Given the description of an element on the screen output the (x, y) to click on. 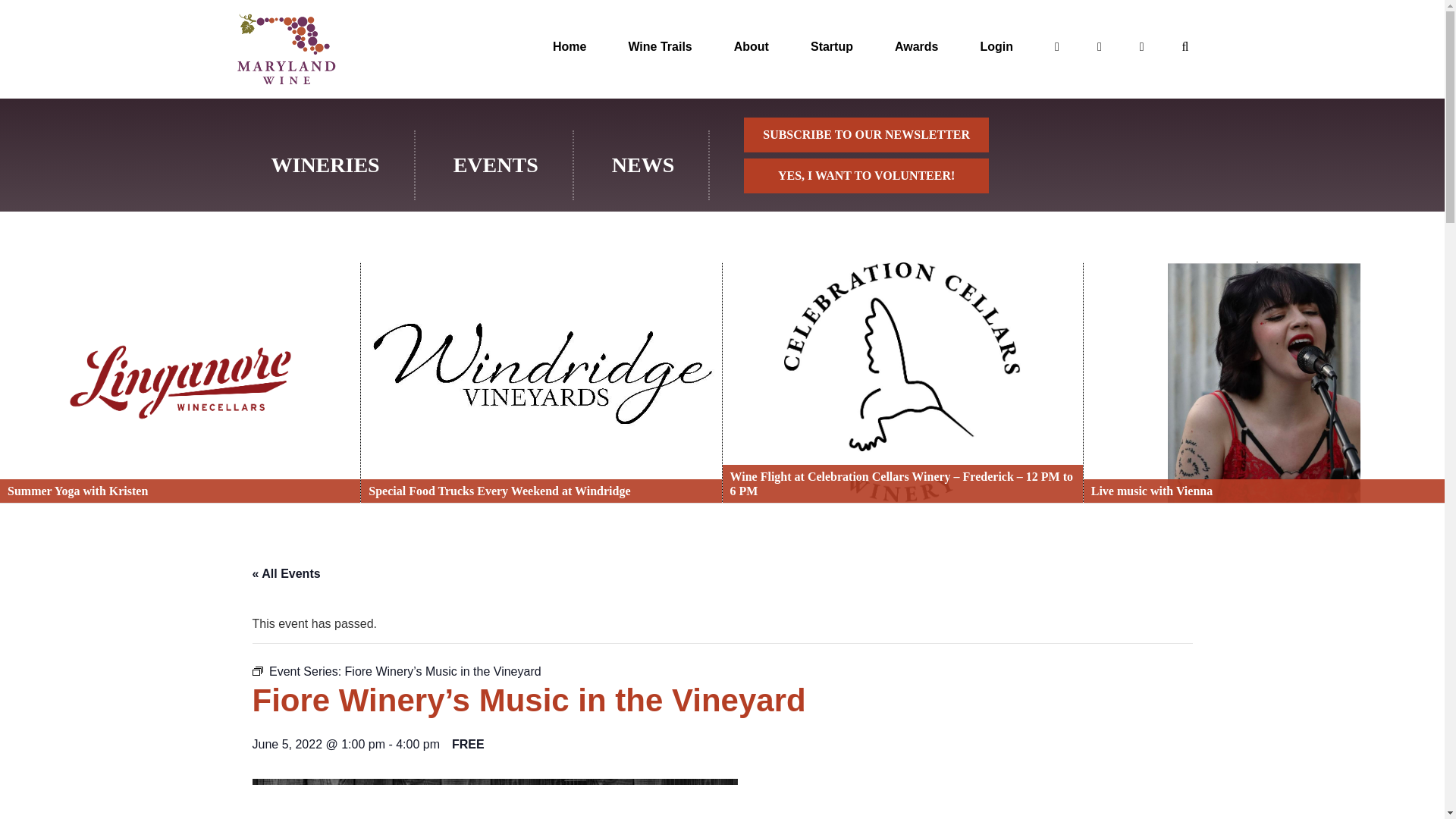
Startup (832, 46)
Awards (917, 46)
About (750, 46)
Maryland Wineries Association (284, 49)
Login (996, 46)
Home (569, 46)
Event Series (256, 670)
Wine Trails (659, 46)
